Given the description of an element on the screen output the (x, y) to click on. 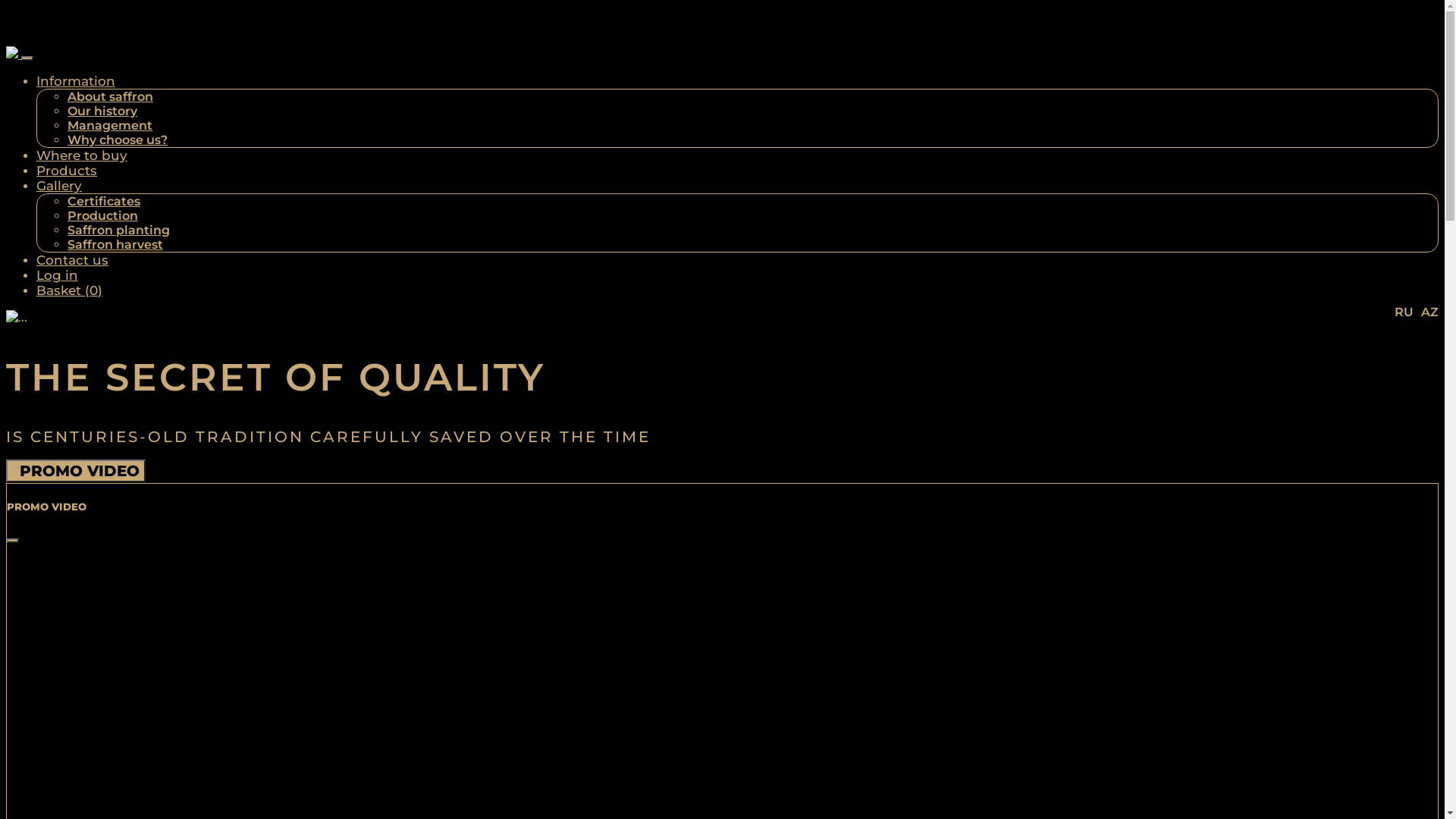
About saffron Element type: text (110, 96)
Production Element type: text (102, 215)
Basket (0) Element type: text (69, 290)
RU Element type: text (1403, 311)
Our history Element type: text (102, 110)
Certificates Element type: text (103, 201)
Where to buy Element type: text (81, 155)
Management Element type: text (109, 125)
Saffron harvest Element type: text (115, 244)
AZ Element type: text (1429, 311)
Why choose us? Element type: text (117, 139)
Products Element type: text (66, 170)
Contact us Element type: text (72, 259)
Gallery Element type: text (58, 185)
PROMO VIDEO Element type: text (75, 470)
Saffron planting Element type: text (118, 229)
Information Element type: text (75, 80)
Log in Element type: text (57, 274)
